Given the description of an element on the screen output the (x, y) to click on. 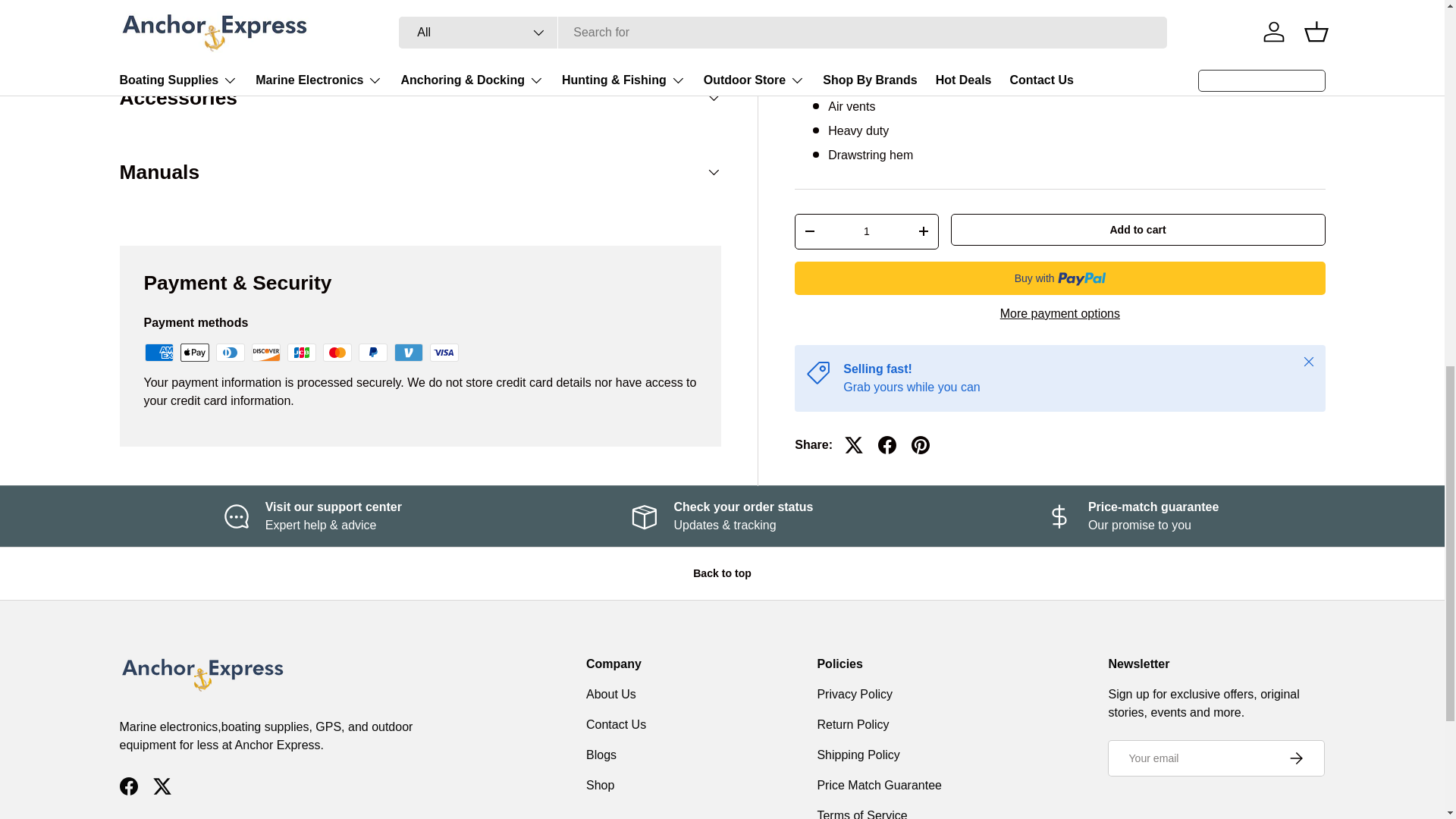
Share on Facebook (887, 287)
Anchor Express on Twitter (162, 786)
Tweet on X (853, 287)
Anchor Express on Facebook (128, 786)
Pin on Pinterest (920, 287)
1 (866, 73)
